Given the description of an element on the screen output the (x, y) to click on. 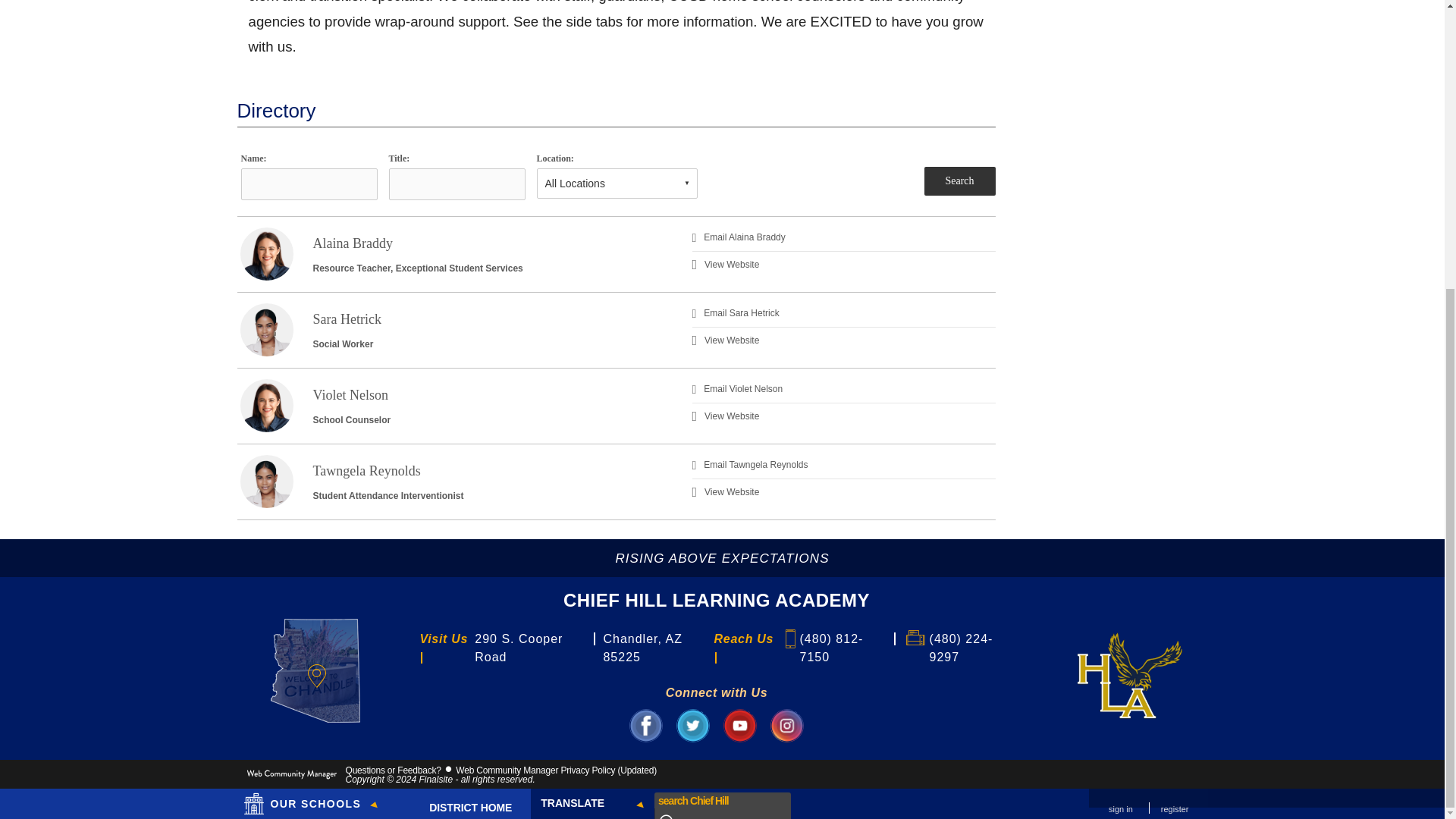
Click to email the primary contact (393, 769)
Finalsite - all rights reserved (291, 776)
Twitter (693, 725)
Facebook (645, 725)
YouTube (740, 725)
Return to the homepage on the district site. (467, 369)
Search Term (708, 362)
Instagram (786, 725)
Chief Hill Learning Academy (1129, 675)
